Given the description of an element on the screen output the (x, y) to click on. 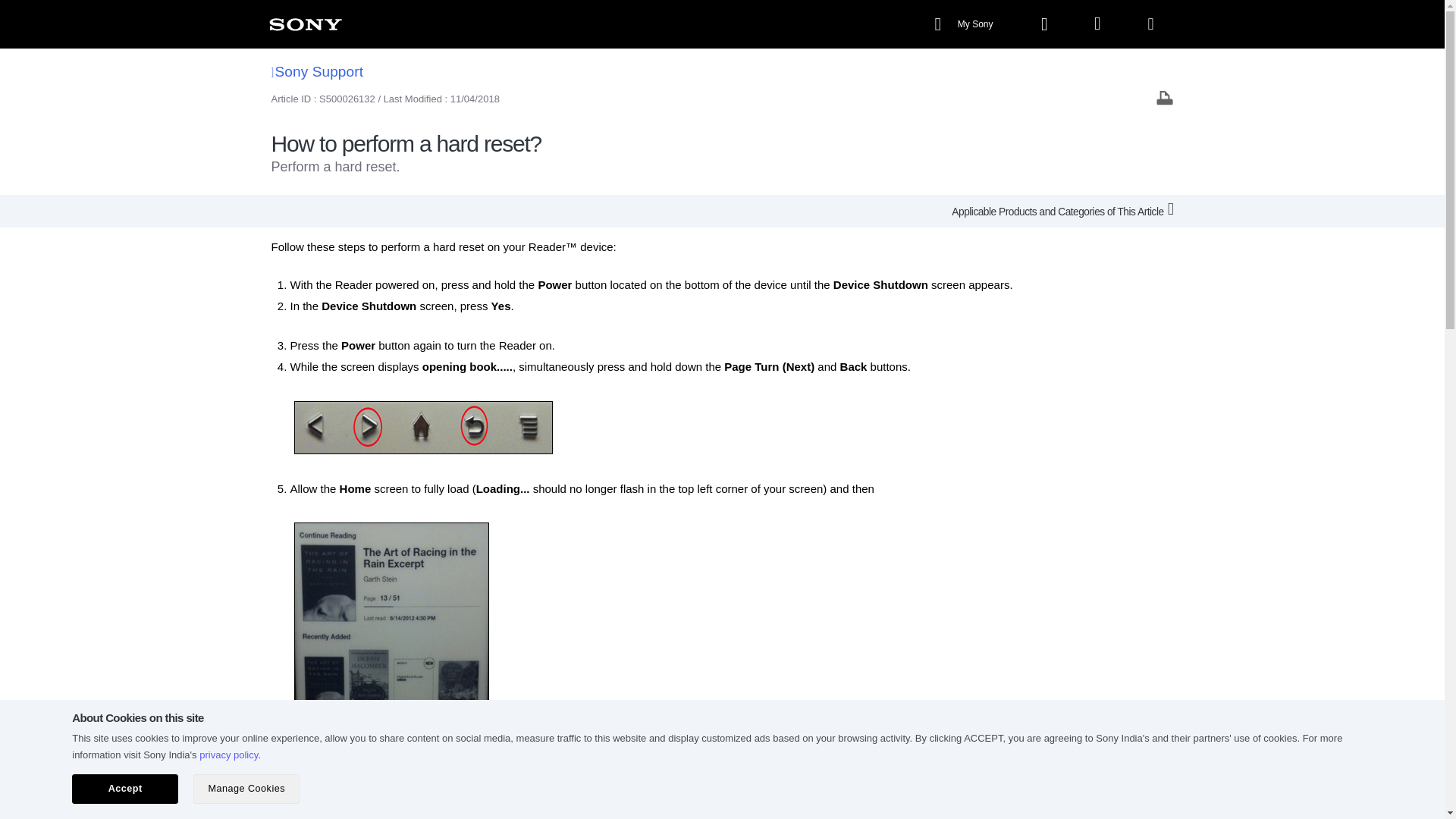
My Sony (964, 24)
Contact Us (710, 799)
Print (1164, 97)
